Given the description of an element on the screen output the (x, y) to click on. 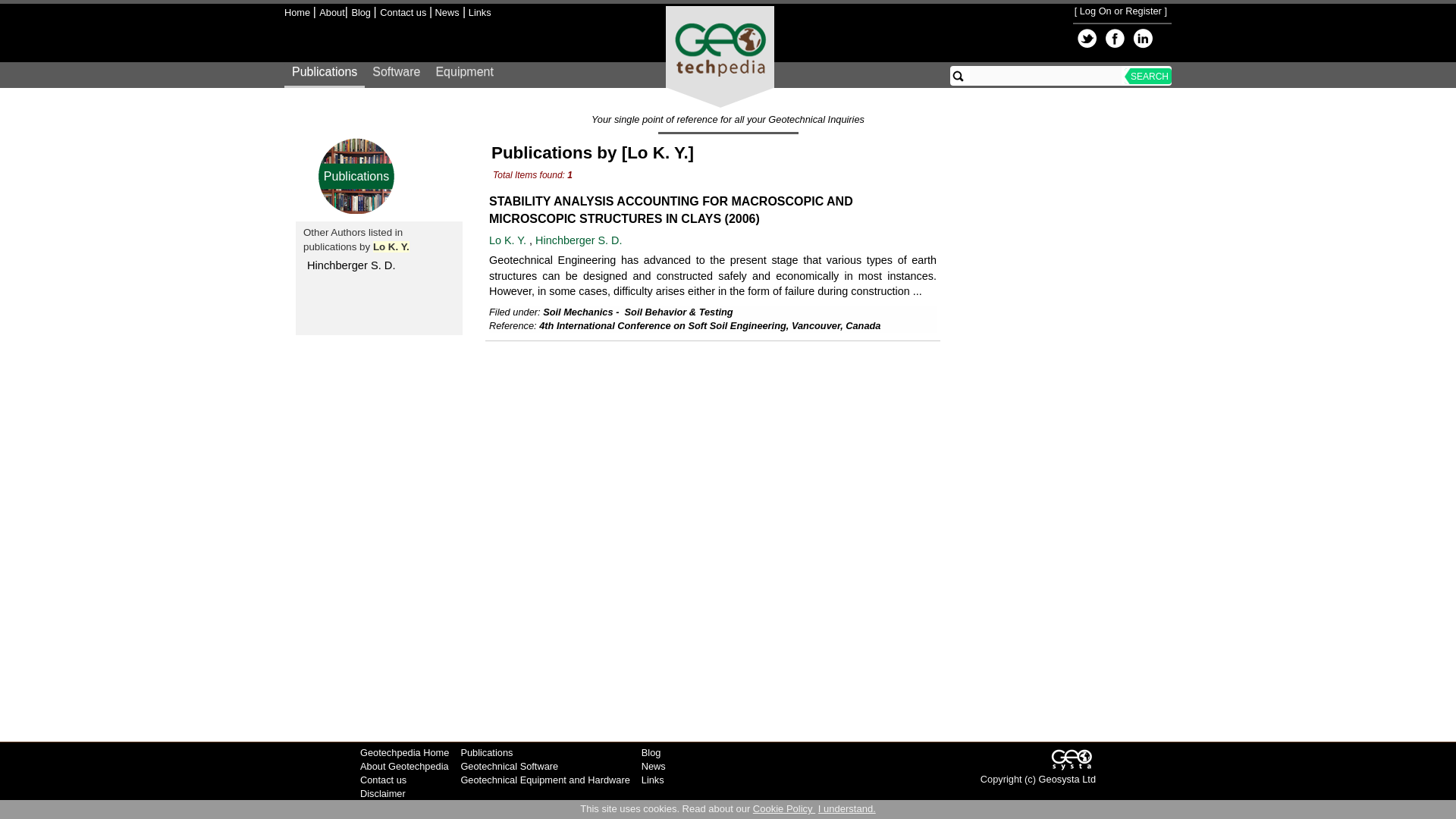
Geotechpedia Home (403, 752)
Software (396, 75)
I understand. (847, 808)
Disclaimer (382, 793)
Log On or Register (1120, 10)
Privacy Policy (389, 808)
Hinchberger S. D. (350, 265)
Home (298, 12)
Search Geotechpedia (1045, 75)
Search Geotechpedia (958, 75)
